Given the description of an element on the screen output the (x, y) to click on. 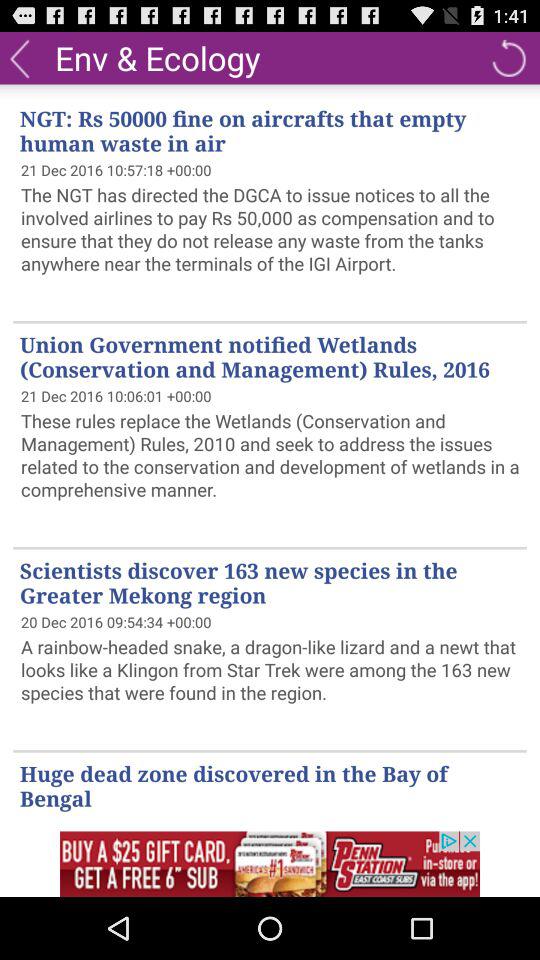
reload or refreshing icon (508, 57)
